Given the description of an element on the screen output the (x, y) to click on. 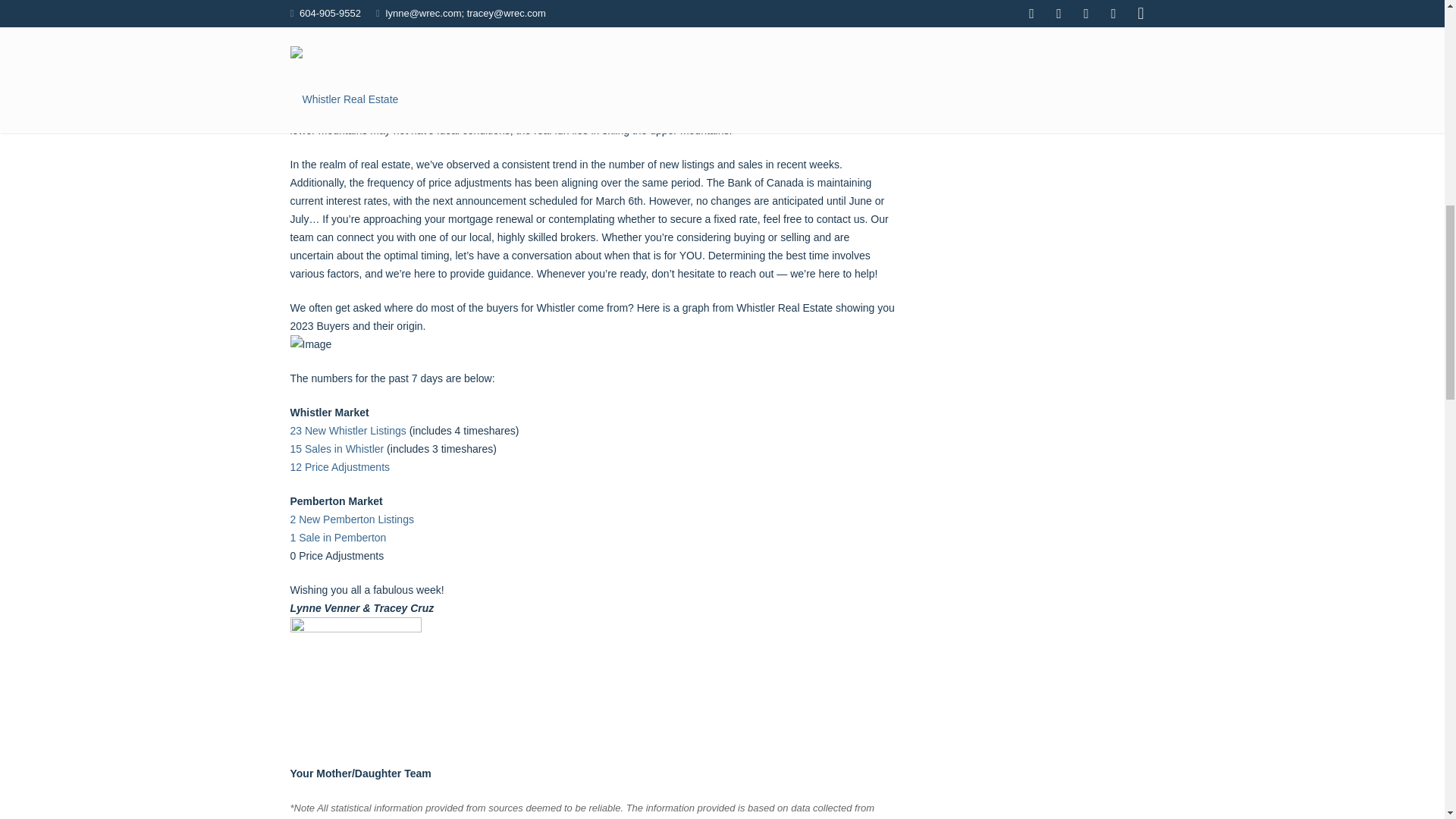
15 Sales in Whistler (336, 449)
Weekly Market Update (571, 40)
Lynne Venner (426, 40)
1 Sale in Pemberton (337, 537)
Blog Post (497, 40)
djustments (363, 467)
2 New Pemberton Listings (351, 519)
23 New Whistler Listings (347, 430)
12 Price A (313, 467)
Back to top (1413, 22)
